Given the description of an element on the screen output the (x, y) to click on. 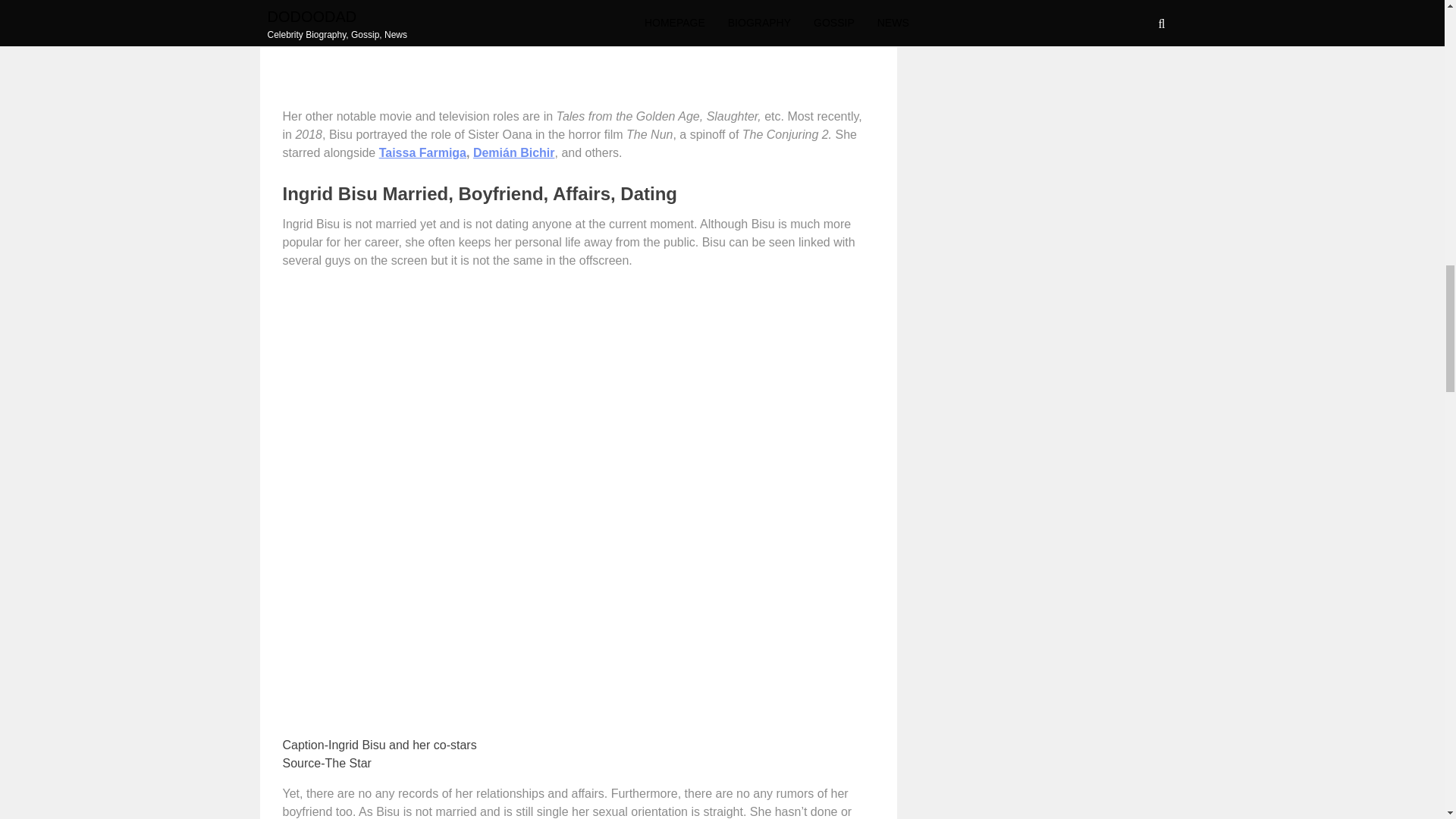
Taissa Farmiga (421, 152)
Taissa Farmiga (421, 152)
